Given the description of an element on the screen output the (x, y) to click on. 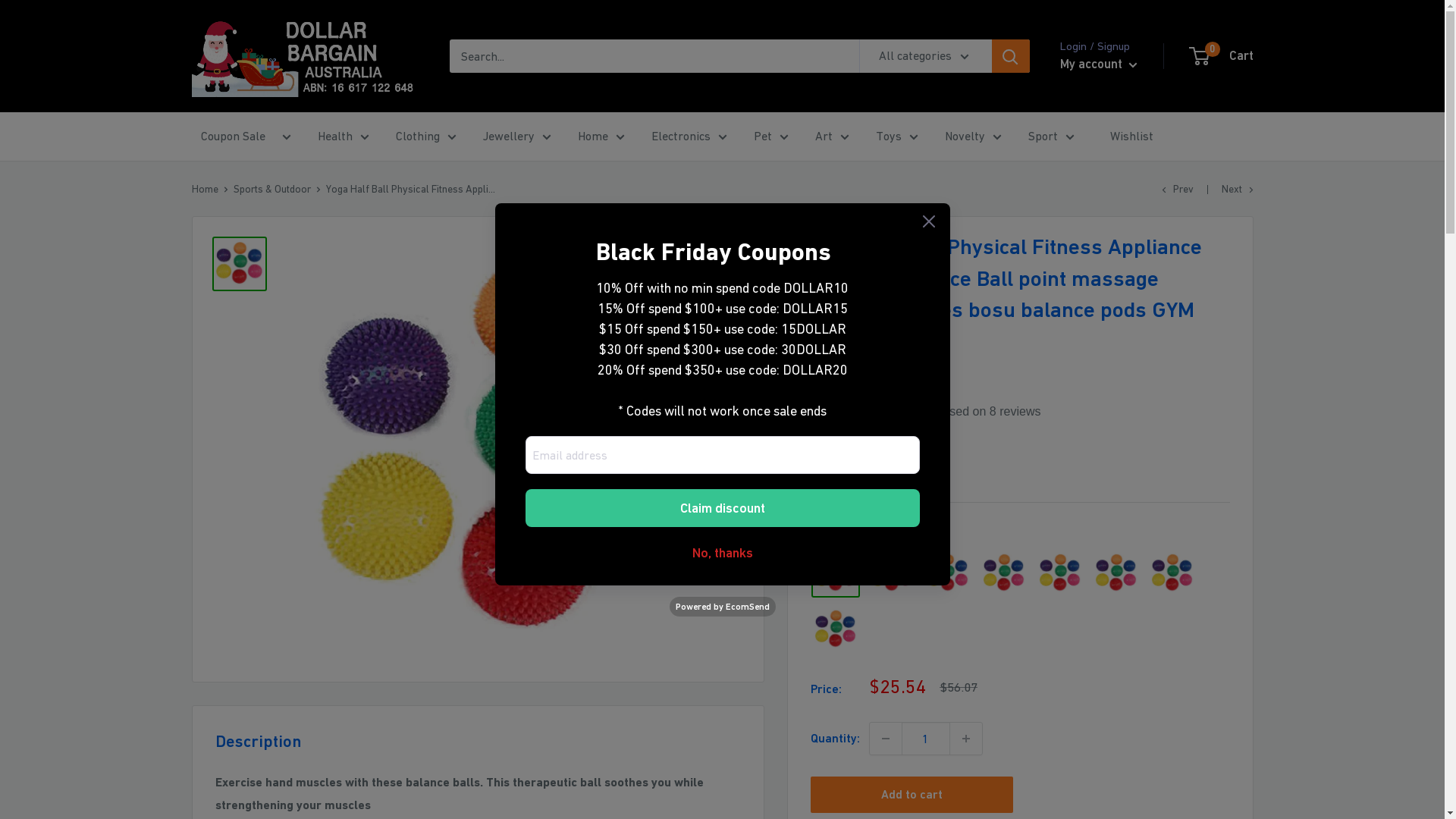
Add to cart Element type: text (911, 794)
0
Cart Element type: text (1221, 55)
Blue Element type: hover (835, 573)
My account Element type: text (1098, 64)
Electronics Element type: text (688, 136)
Gray Element type: hover (891, 573)
Novelty Element type: text (972, 136)
Decrease quantity by 1 Element type: hover (884, 738)
Pink Element type: hover (1059, 573)
Home Element type: text (600, 136)
Yellow Element type: hover (835, 629)
Increase quantity by 1 Element type: hover (965, 738)
Health Element type: text (342, 136)
Home Element type: text (204, 188)
Jewellery Element type: text (516, 136)
Orange Element type: hover (1003, 573)
Clothing Element type: text (425, 136)
Sports & Outdoor Element type: text (271, 188)
Pet Element type: text (770, 136)
Sport Element type: text (1051, 136)
Red Element type: hover (1172, 573)
Next Element type: text (1236, 188)
Toys Element type: text (896, 136)
Prev Element type: text (1177, 188)
Green Element type: hover (947, 573)
Purple Element type: hover (1116, 573)
Art Element type: text (831, 136)
